Given the description of an element on the screen output the (x, y) to click on. 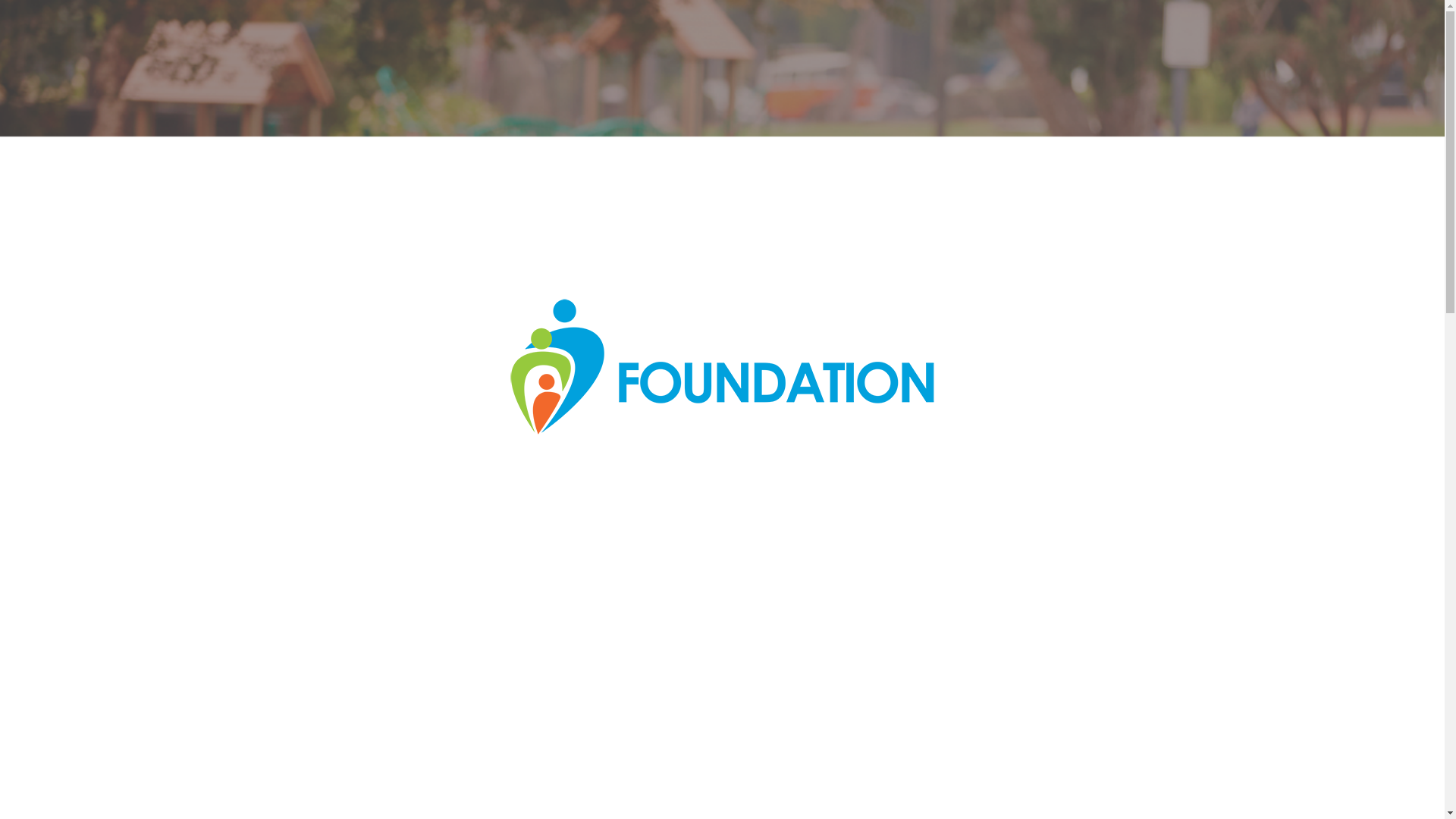
; Element type: text (721, 783)
